Given the description of an element on the screen output the (x, y) to click on. 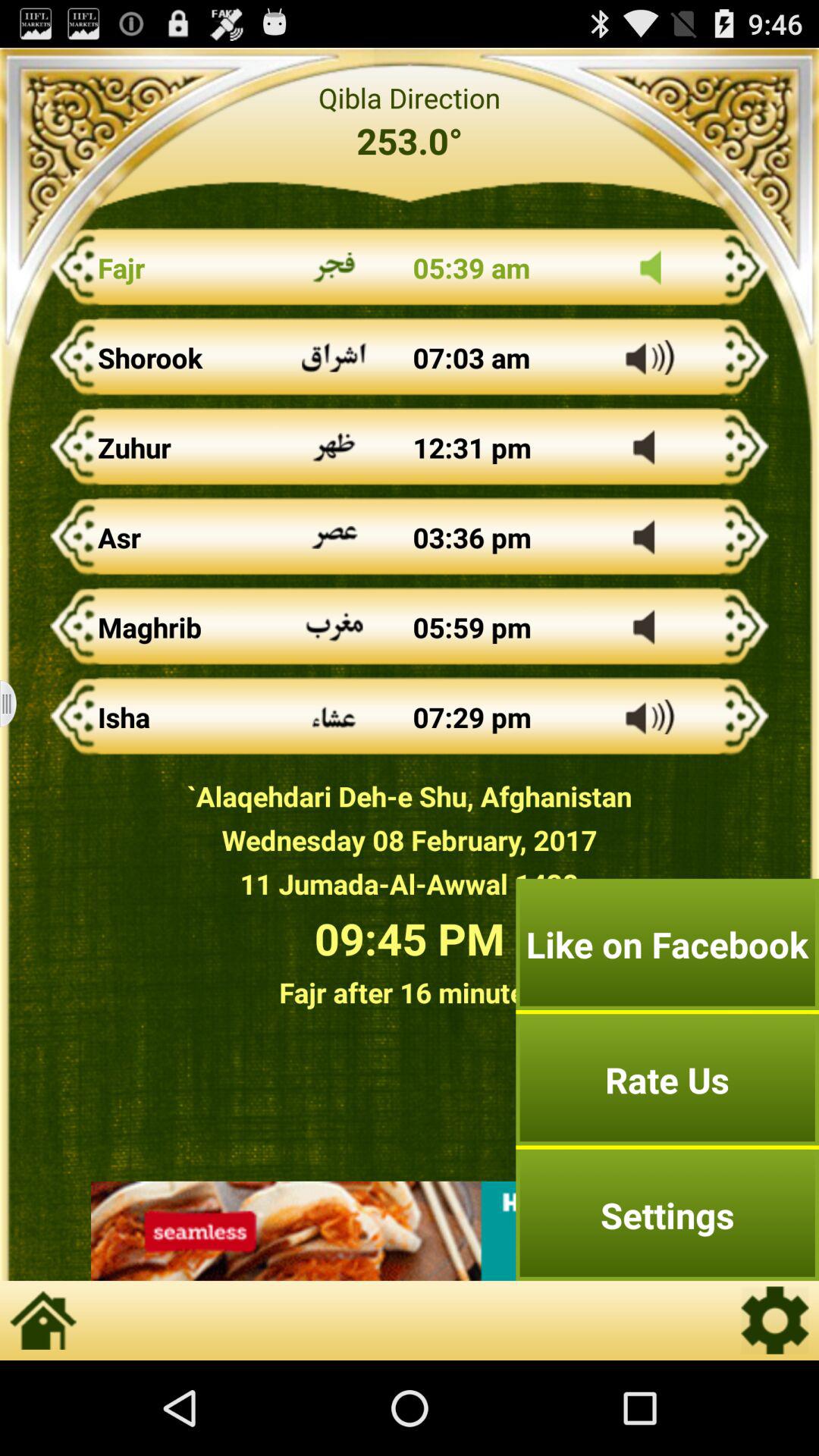
advertisement (409, 1230)
